Given the description of an element on the screen output the (x, y) to click on. 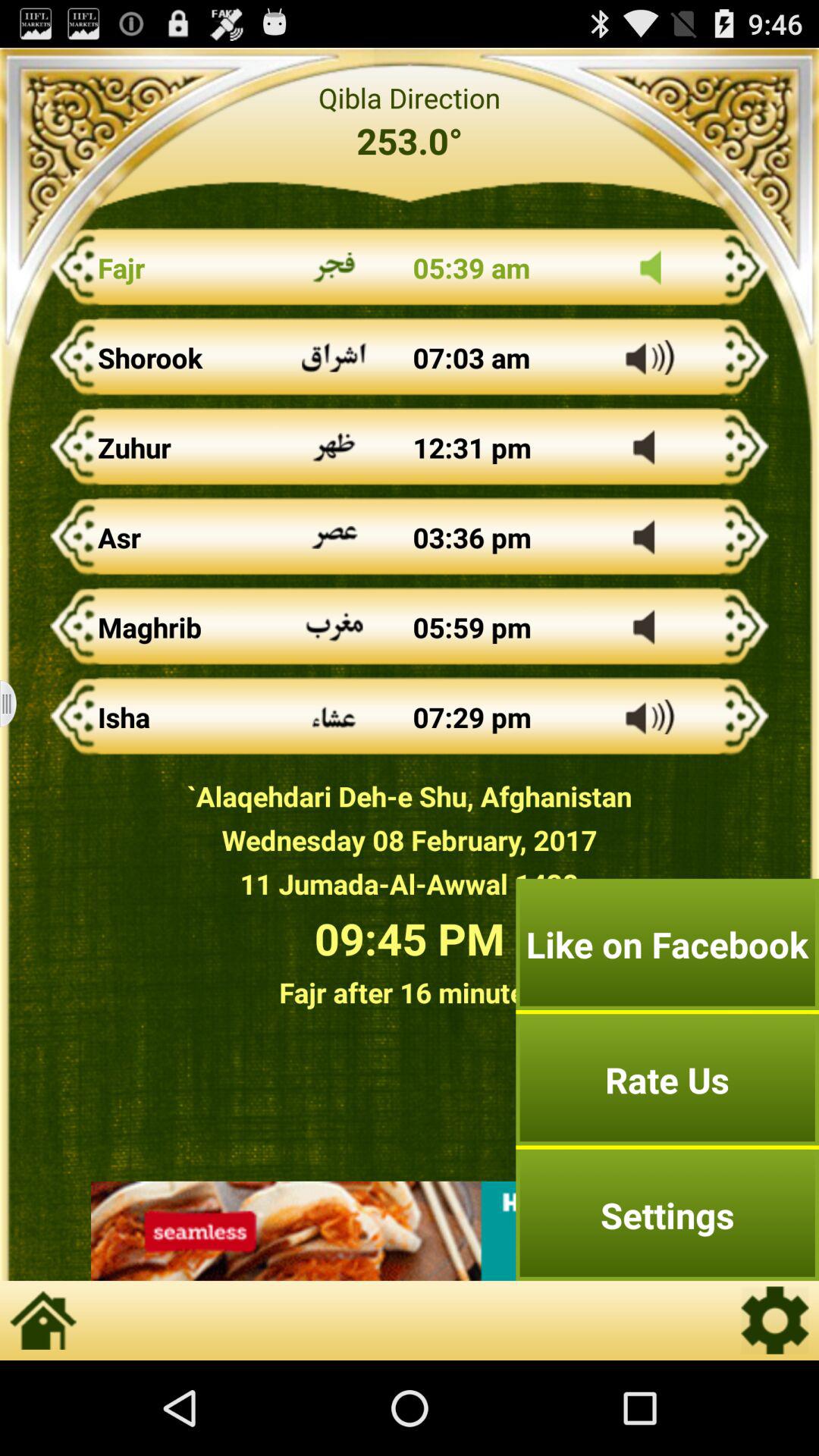
advertisement (409, 1230)
